Given the description of an element on the screen output the (x, y) to click on. 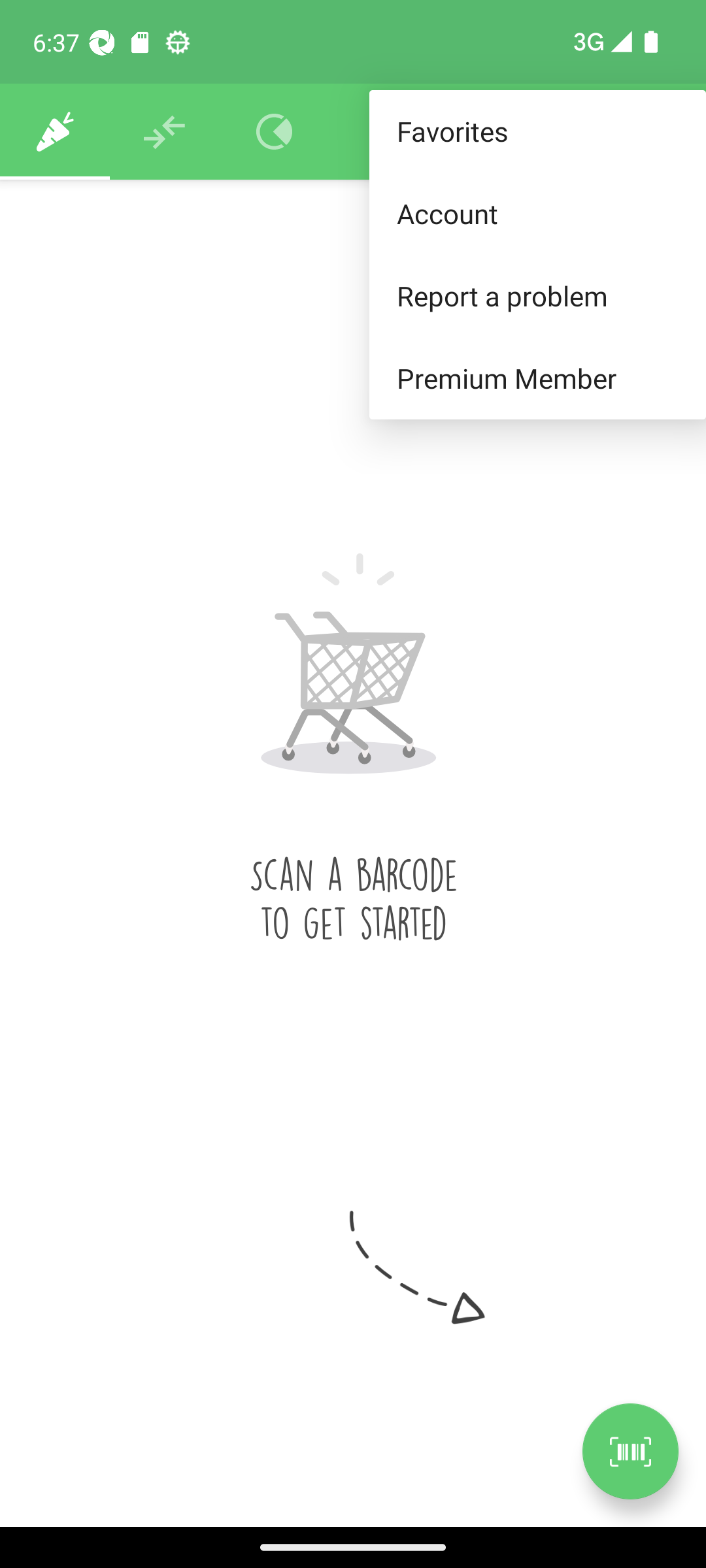
Favorites (537, 131)
Account (537, 213)
Report a problem (537, 295)
Premium Member (537, 378)
